Given the description of an element on the screen output the (x, y) to click on. 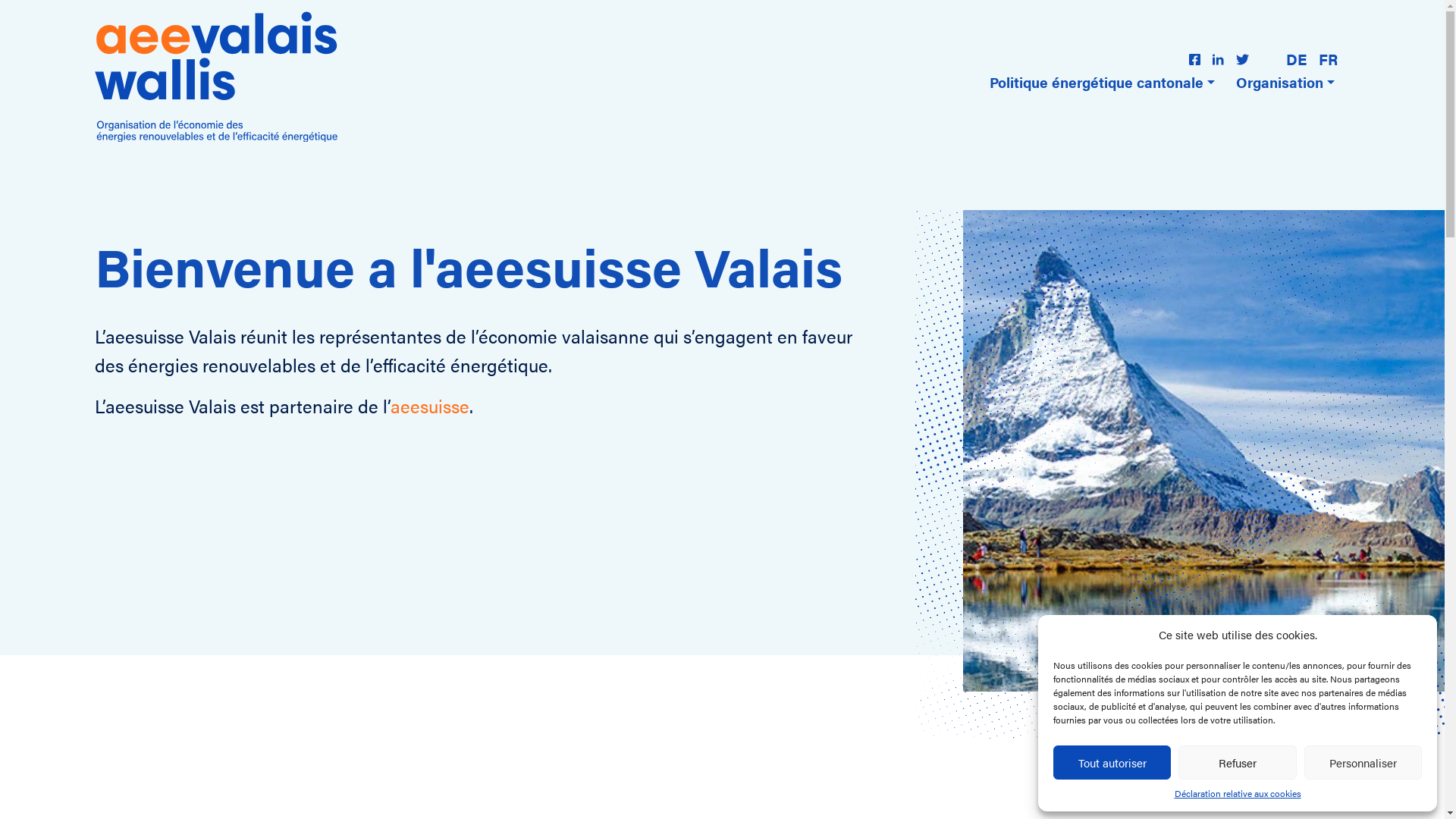
DE Element type: text (1296, 58)
aeesuisse Element type: text (429, 405)
logo-twitter Element type: text (1242, 59)
Personnaliser Element type: text (1362, 762)
Tout autoriser Element type: text (1111, 762)
Refuser Element type: text (1236, 762)
Organisation Element type: text (1285, 82)
FR Element type: text (1327, 58)
